Given the description of an element on the screen output the (x, y) to click on. 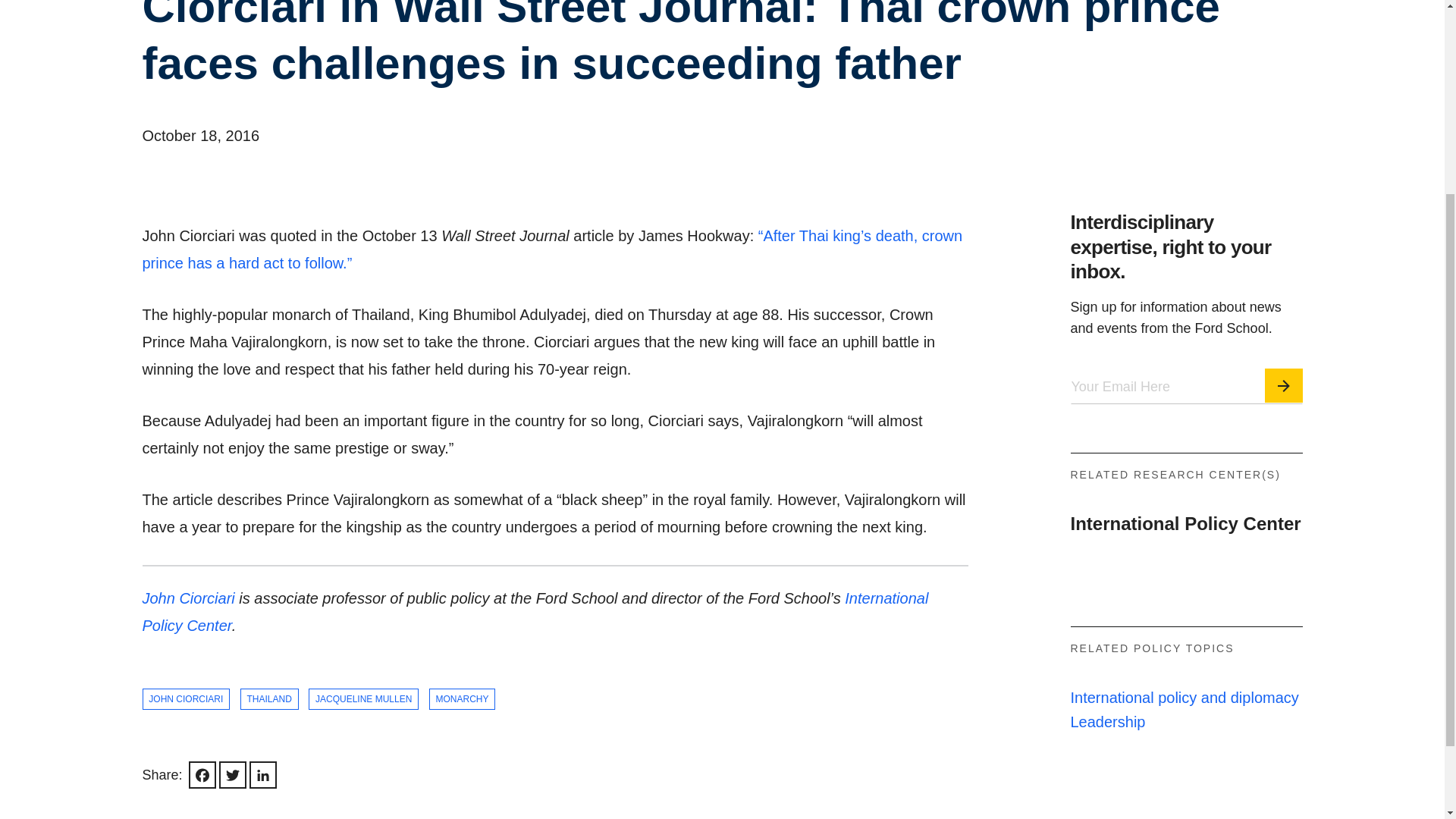
Leadership (1107, 763)
MONARCHY (462, 743)
Subscribe (1284, 394)
Subscribe (1284, 385)
THAILAND (269, 744)
International policy and diplomacy (1184, 740)
International Policy Center (1185, 567)
JACQUELINE MULLEN (363, 743)
